Given the description of an element on the screen output the (x, y) to click on. 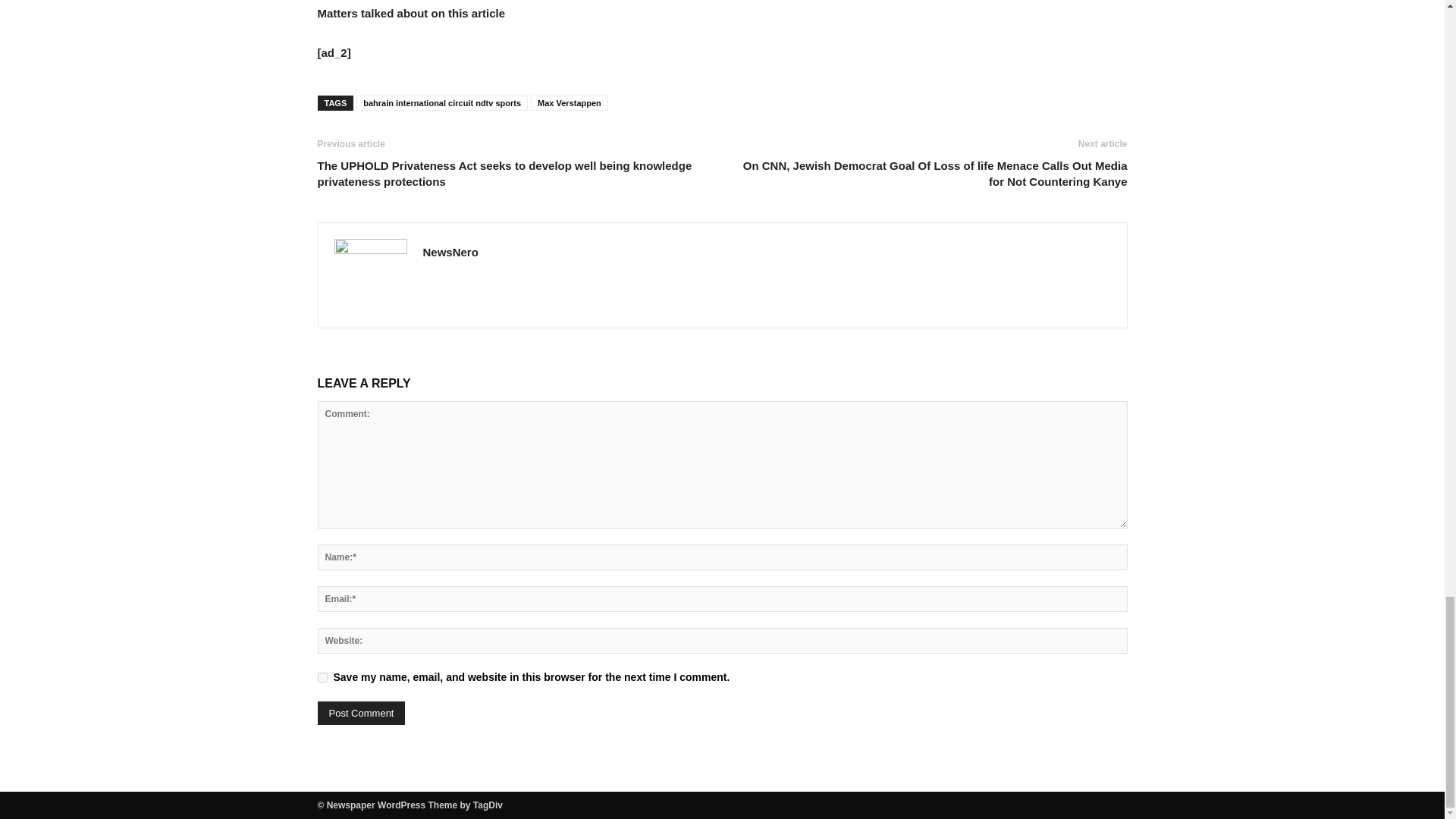
Post Comment (360, 712)
bahrain international circuit ndtv sports (441, 102)
Max Verstappen (569, 102)
NewsNero (451, 251)
yes (321, 677)
